Given the description of an element on the screen output the (x, y) to click on. 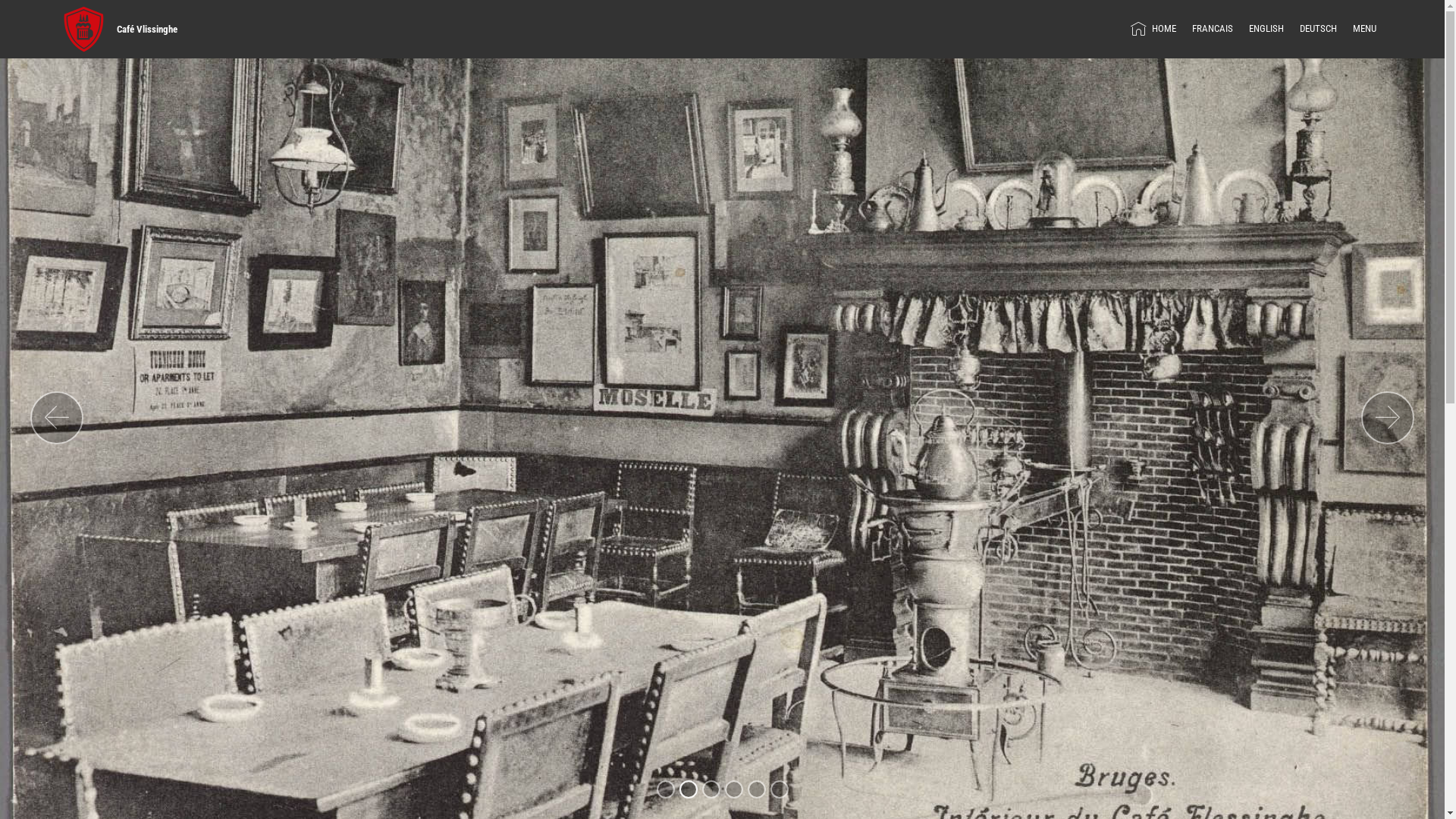
Next Element type: text (1387, 417)
+32 (0) 50 34 37 37 Element type: text (405, 527)
HOME Element type: text (1153, 28)
MENU Element type: text (1364, 28)
FRANCAIS Element type: text (1212, 28)
Cafe.Vlissinghe Element type: text (350, 663)
DEUTSCH Element type: text (1317, 28)
Previous Element type: text (56, 417)
ENGLISH Element type: text (1265, 28)
Guesthouse Bruges Element type: text (570, 392)
Raadpleeg onze menukaart Element type: text (590, 682)
info@cafevlissinghe.be Element type: text (402, 508)
